Given the description of an element on the screen output the (x, y) to click on. 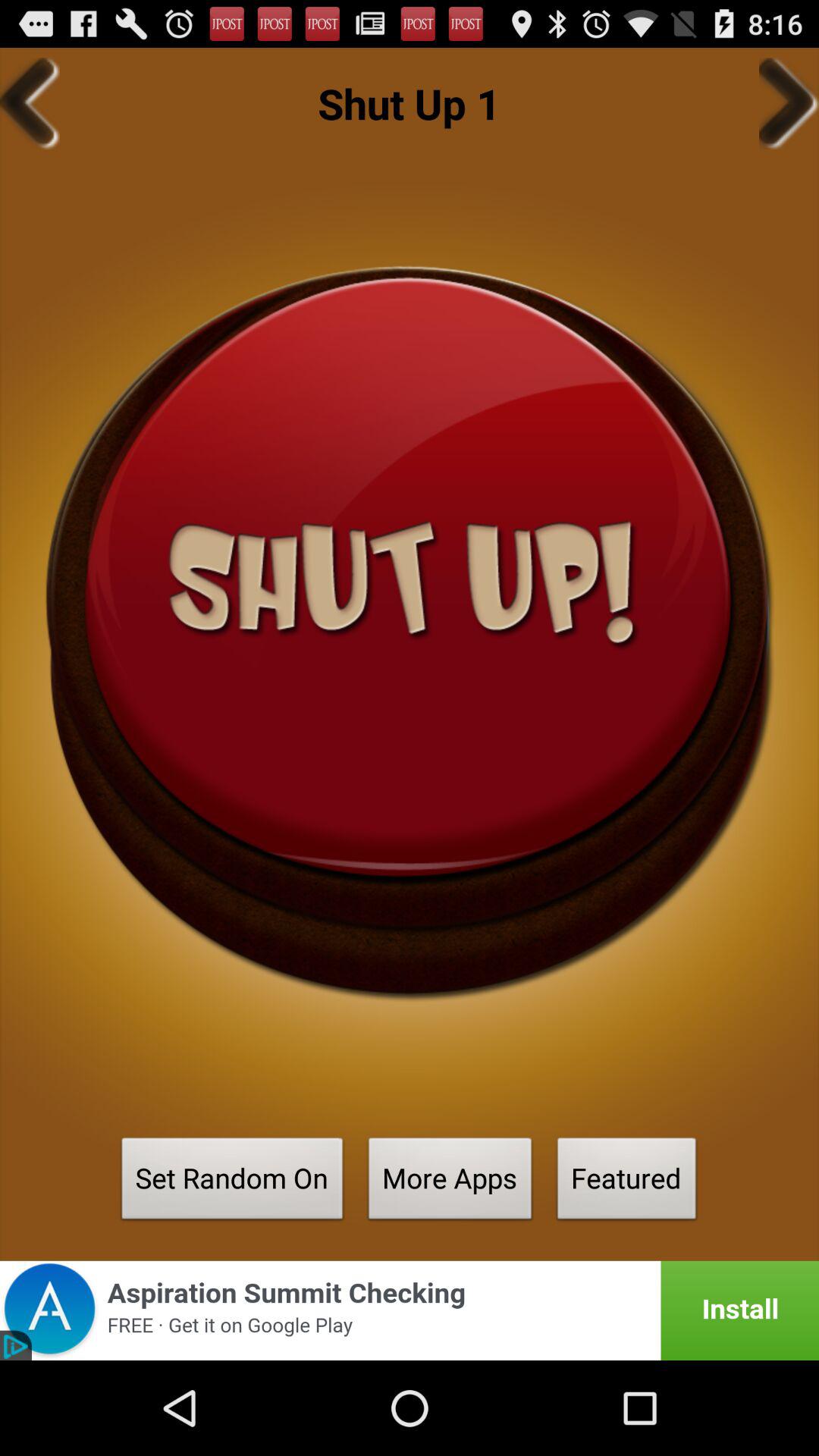
open featured button (626, 1182)
